Given the description of an element on the screen output the (x, y) to click on. 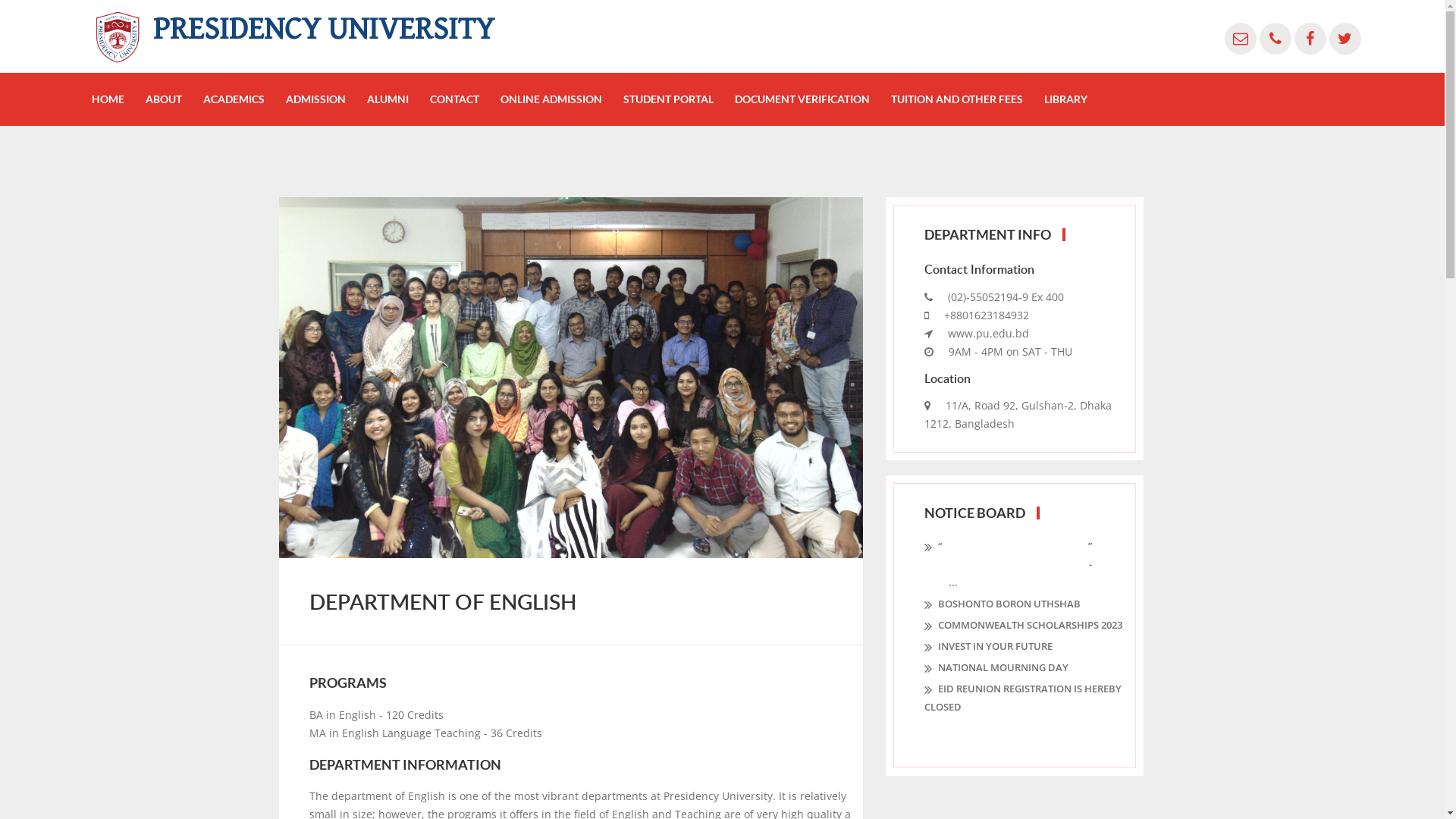
ALUMNI Element type: text (387, 98)
TUITION AND OTHER FEES Element type: text (956, 98)
INVEST IN YOUR FUTURE Element type: text (987, 646)
HOME Element type: text (107, 98)
NOTICE BOARD Element type: text (973, 512)
ACADEMICS Element type: text (233, 98)
EID REUNION REGISTRATION IS HEREBY CLOSED Element type: text (1026, 697)
BOSHONTO BORON UTHSHAB Element type: text (1001, 603)
CONTACT Element type: text (454, 98)
LIBRARY Element type: text (1065, 98)
STUDENT PORTAL Element type: text (668, 98)
ADMISSION Element type: text (315, 98)
DOCUMENT VERIFICATION Element type: text (801, 98)
ABOUT Element type: text (163, 98)
COMMONWEALTH SCHOLARSHIPS 2023 Element type: text (1022, 624)
NATIONAL MOURNING DAY Element type: text (995, 667)
ONLINE ADMISSION Element type: text (551, 98)
